Given the description of an element on the screen output the (x, y) to click on. 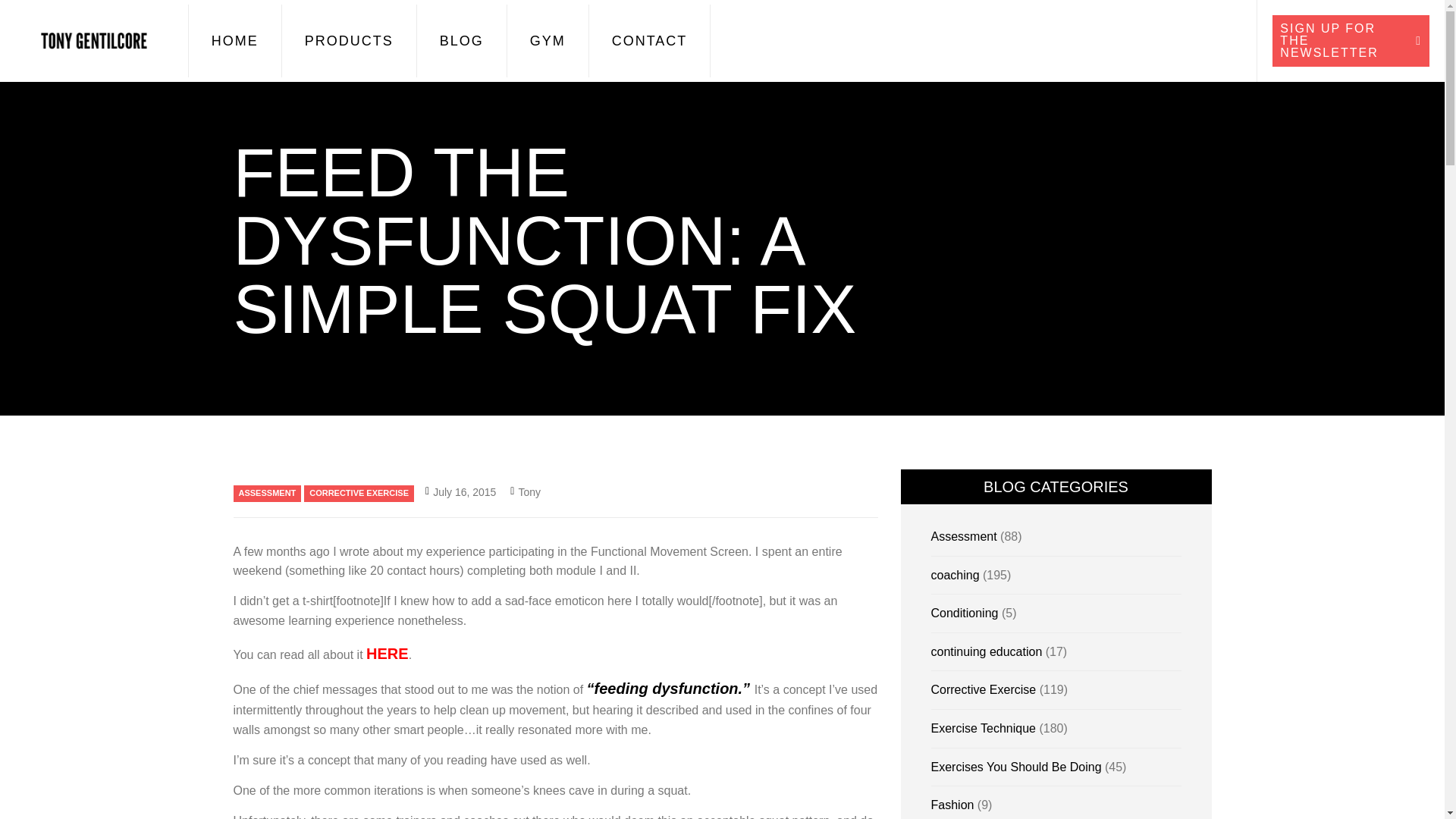
CONTACT (649, 40)
Tony (525, 491)
PRODUCTS (349, 40)
HOME (235, 40)
Exercises You Should Be Doing (1016, 766)
coaching (955, 574)
BLOG (461, 40)
Assessment (964, 535)
SIGN UP FOR THE NEWSLETTER (1350, 40)
ASSESSMENT (266, 493)
